Given the description of an element on the screen output the (x, y) to click on. 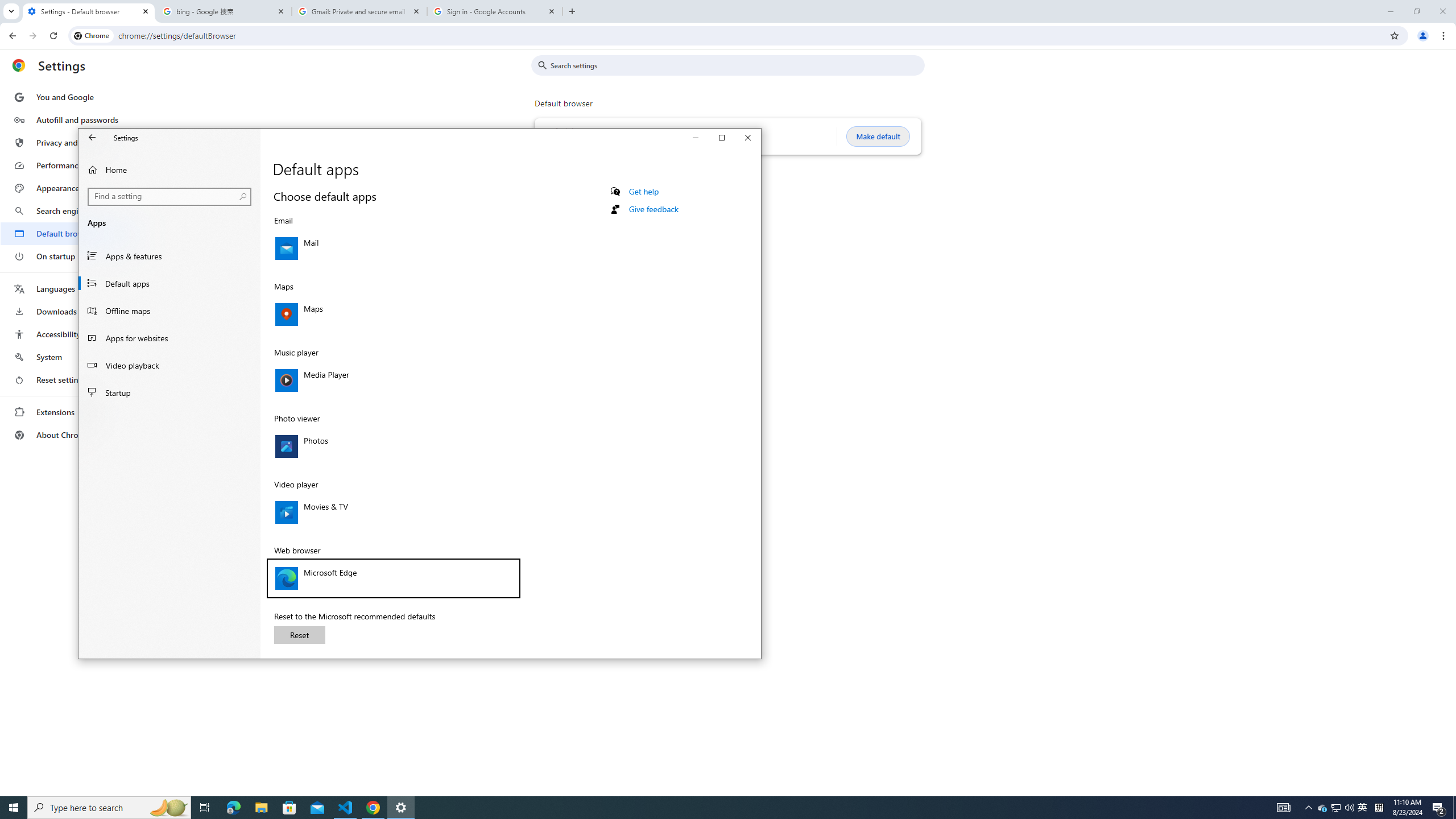
Give feedback (653, 208)
Make default (877, 136)
Offline maps (169, 310)
Startup (169, 392)
AutomationID: 4105 (1283, 807)
Default apps (169, 282)
User Promoted Notification Area (1362, 807)
Running applications (1336, 807)
Search settings (700, 807)
File Explorer (1322, 807)
